Given the description of an element on the screen output the (x, y) to click on. 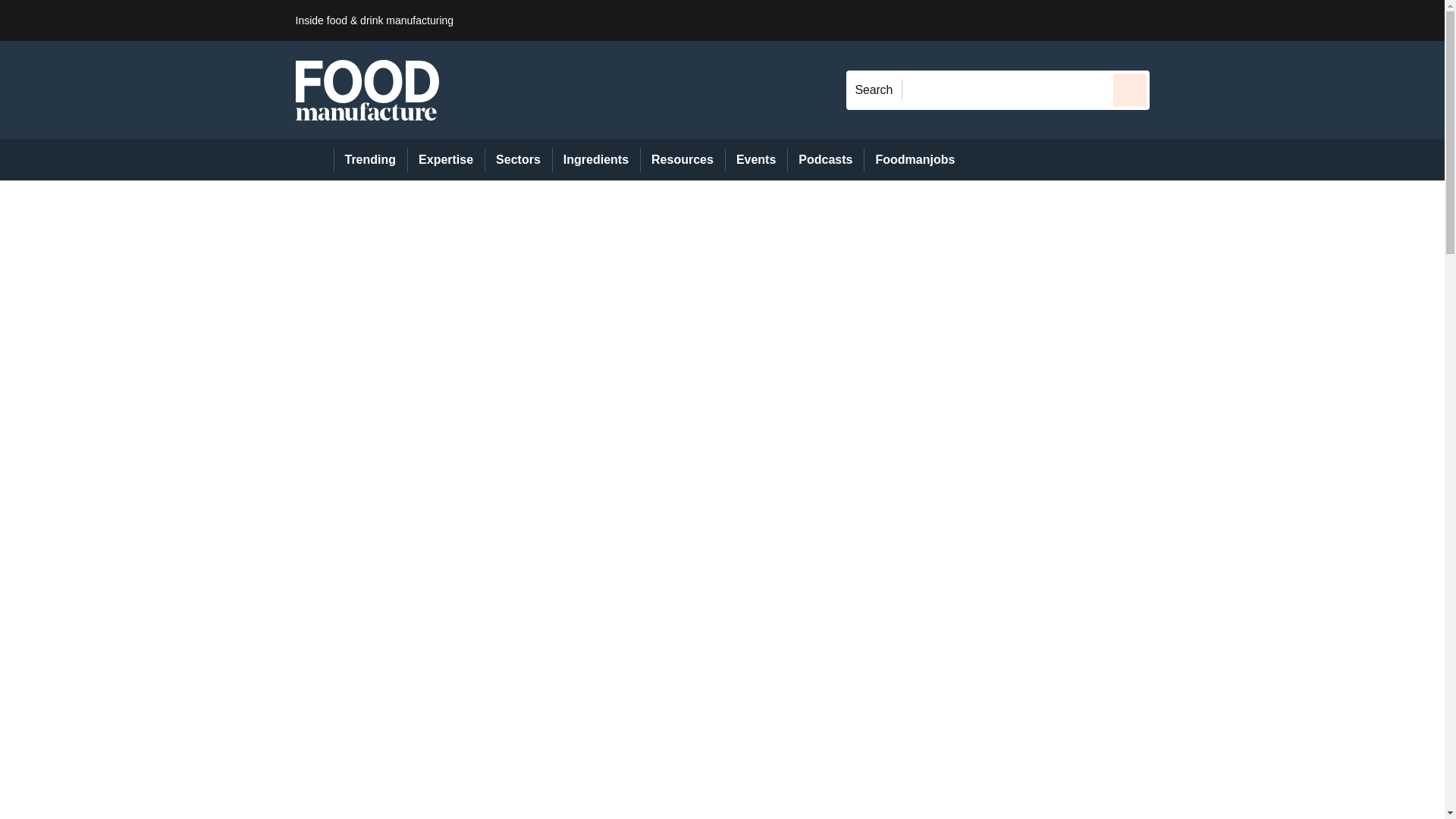
FoodManufacture (367, 89)
Trending (370, 159)
Home (313, 159)
Send (1129, 89)
My account (1256, 20)
Send (1129, 90)
Sign out (1174, 20)
Home (314, 159)
Expertise (445, 159)
REGISTER (1250, 20)
